Given the description of an element on the screen output the (x, y) to click on. 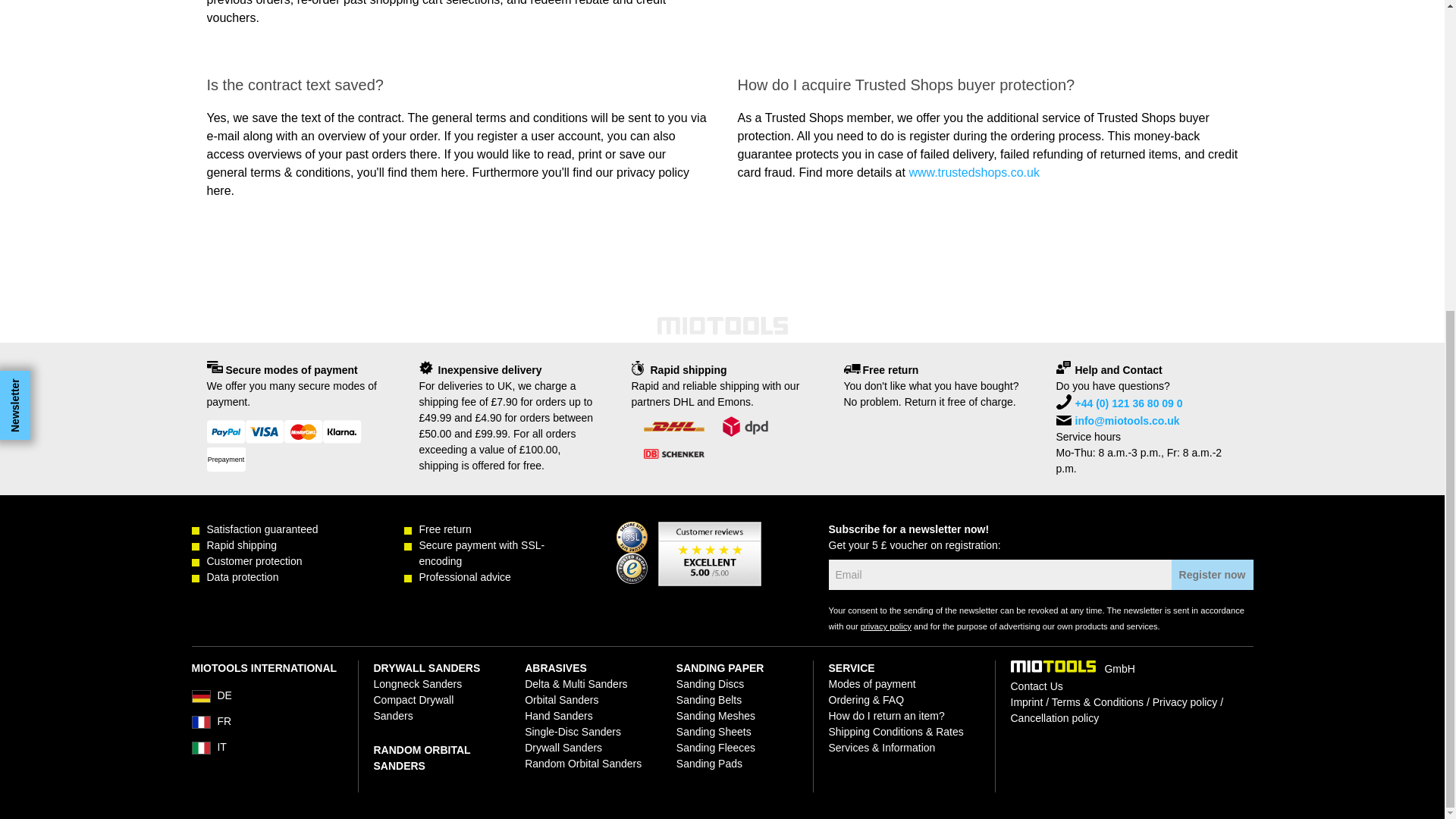
E-Mail Address (1000, 574)
Deutsch (266, 696)
France (266, 722)
Italiano (266, 748)
